Given the description of an element on the screen output the (x, y) to click on. 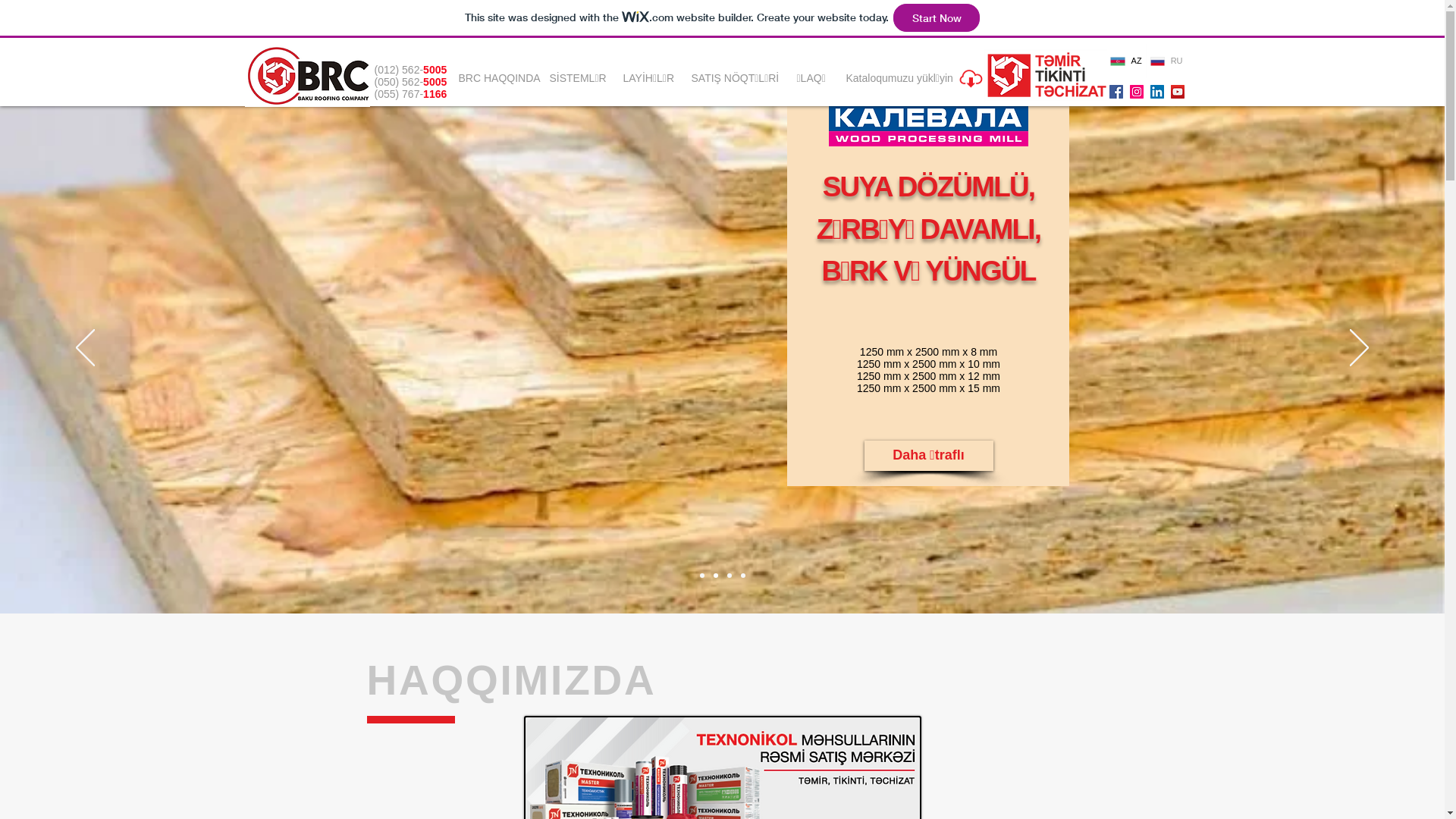
BRC HAQQINDA Element type: text (507, 78)
AZ Element type: text (1126, 60)
RU Element type: text (1165, 60)
